Given the description of an element on the screen output the (x, y) to click on. 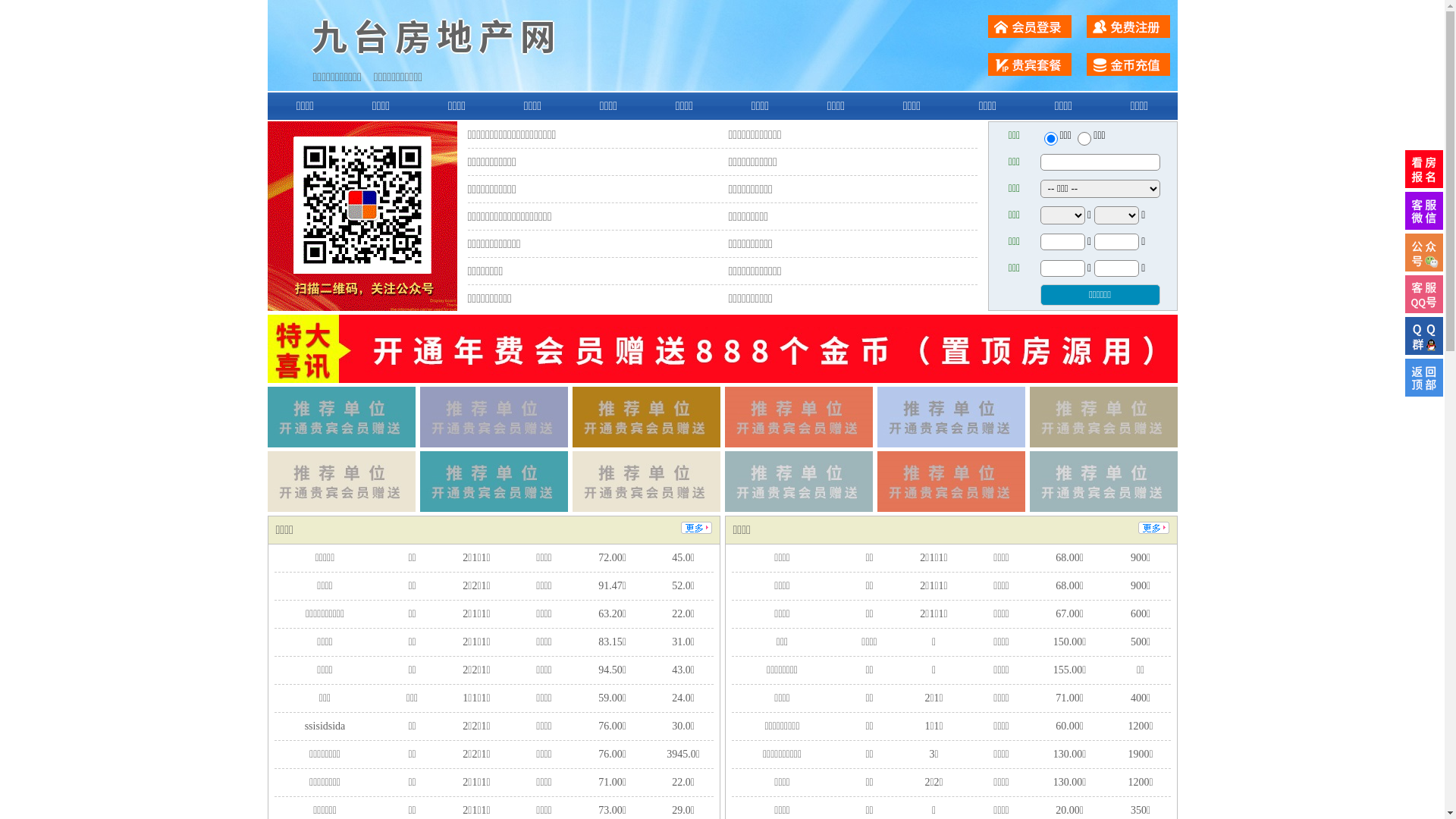
chuzu Element type: text (1084, 138)
ershou Element type: text (1050, 138)
